Given the description of an element on the screen output the (x, y) to click on. 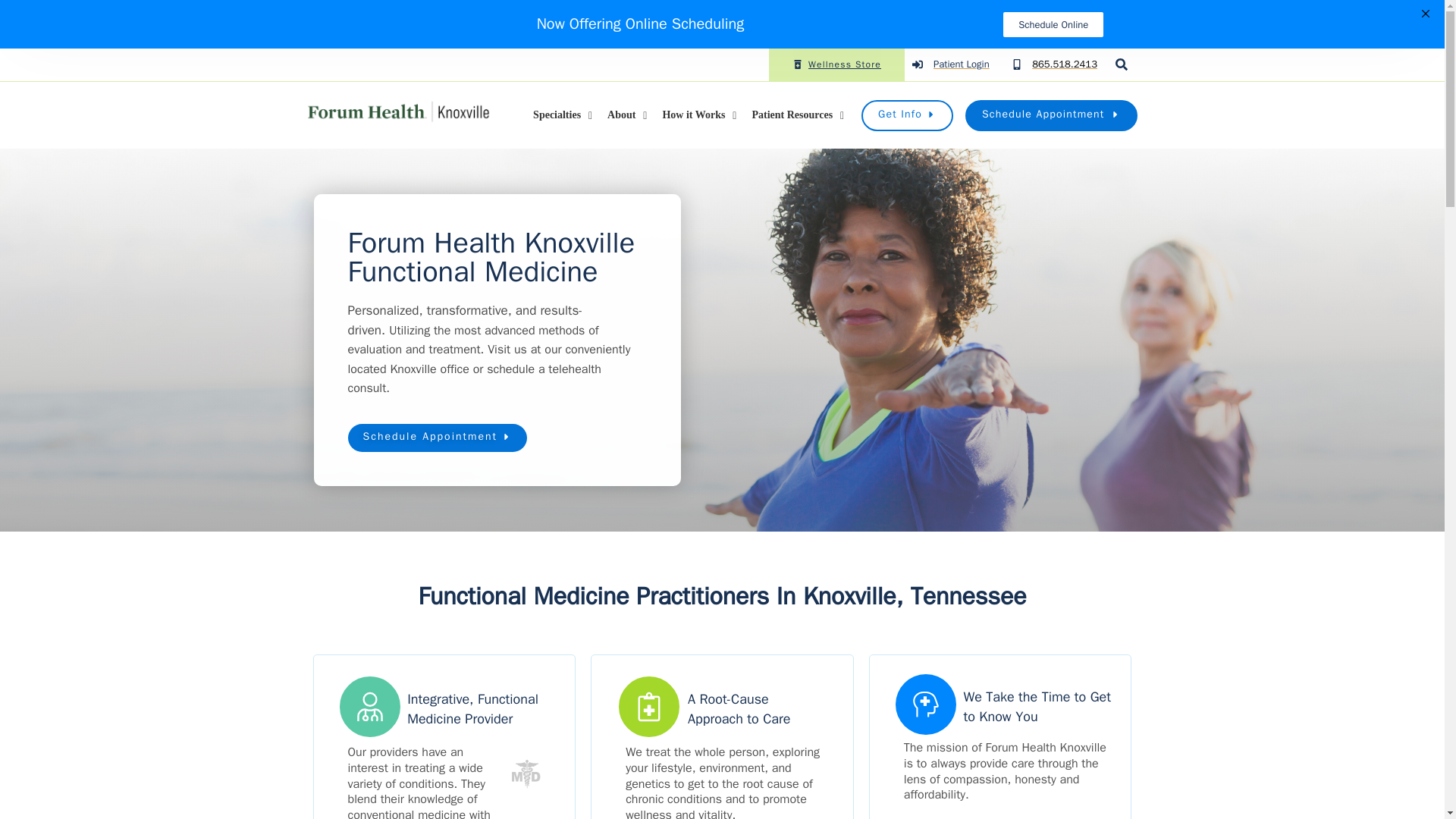
Patient Login (950, 64)
Wellness Store (836, 64)
Schedule Online (1053, 24)
865.518.2413 (1064, 63)
